Given the description of an element on the screen output the (x, y) to click on. 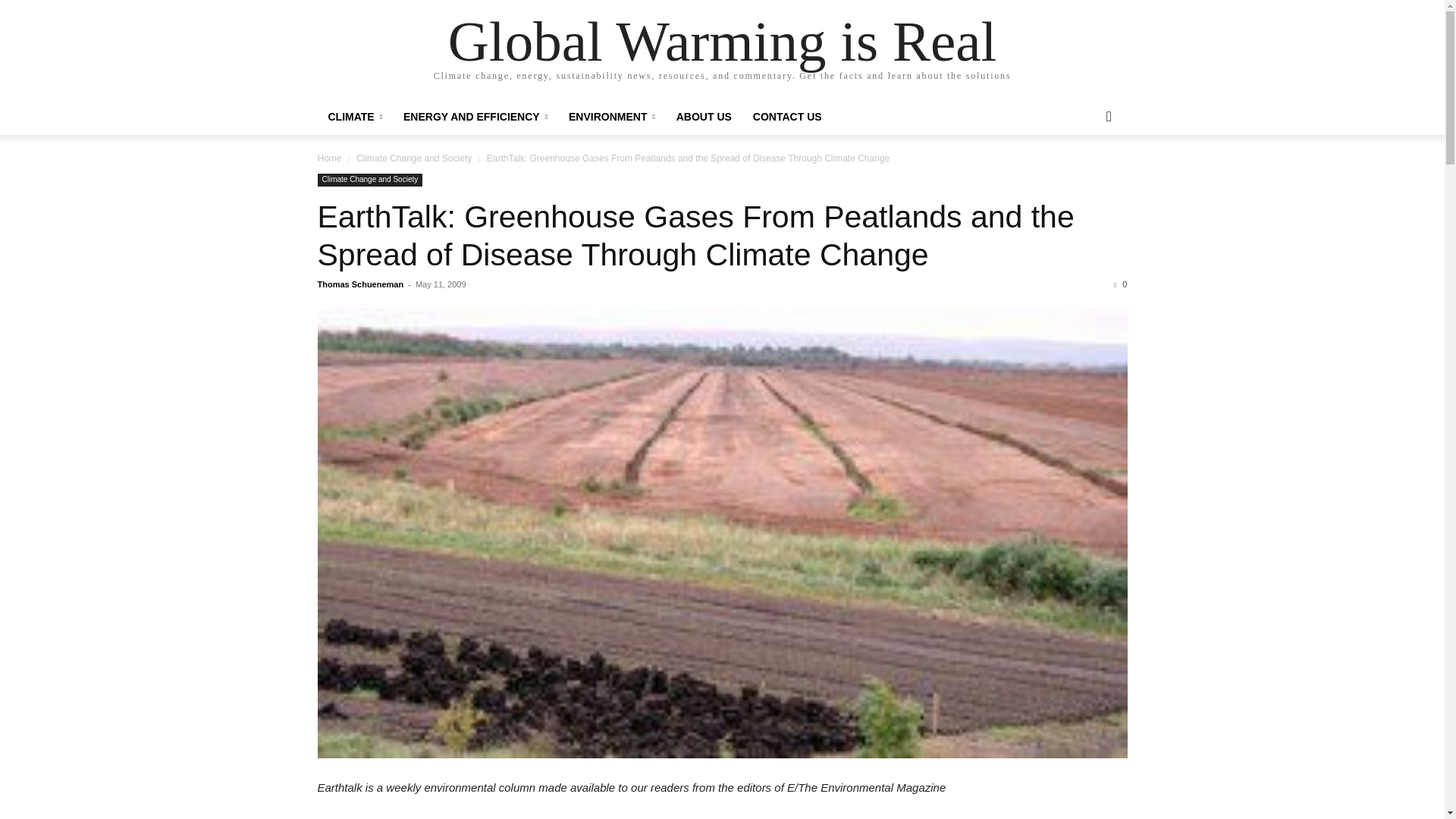
ENVIRONMENT (611, 116)
View all posts in Climate Change and Society (413, 158)
Global Warming is Real (722, 41)
ENERGY AND EFFICIENCY (475, 116)
CLIMATE (354, 116)
